Given the description of an element on the screen output the (x, y) to click on. 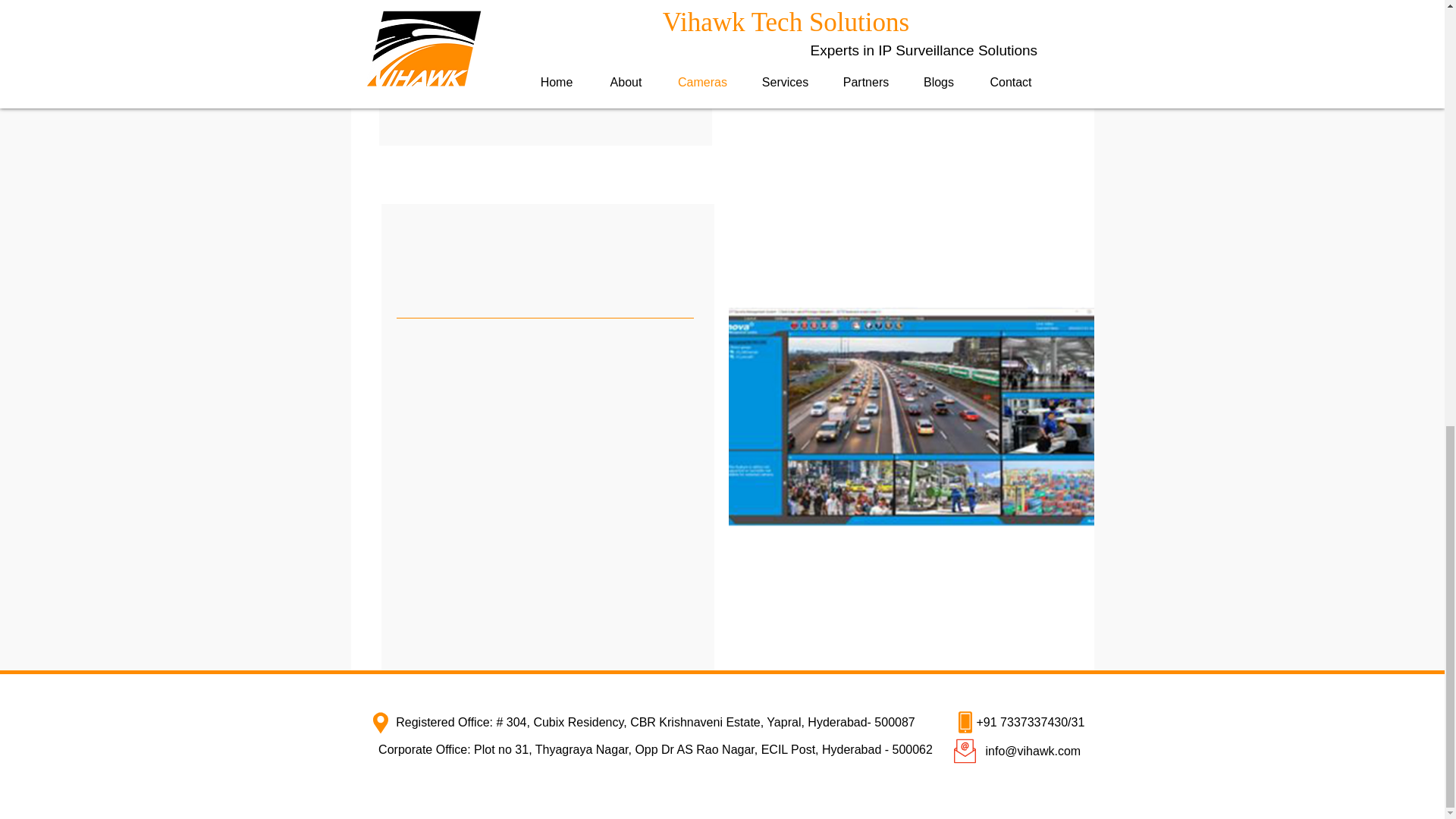
Rugged Cameras.jpg (899, 57)
PTZ Camera.jpg (910, 420)
